Given the description of an element on the screen output the (x, y) to click on. 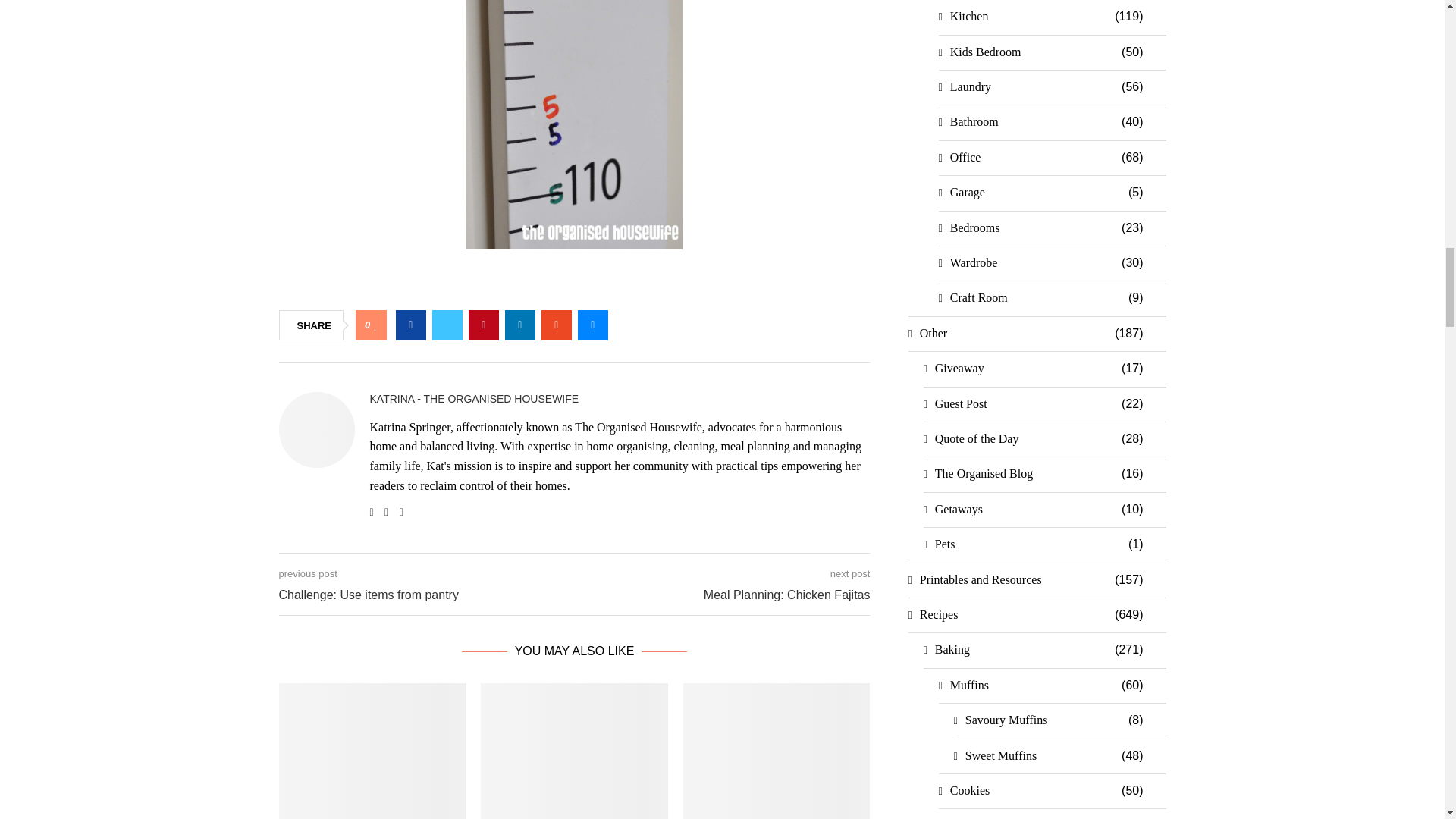
13 Creative Uses for Tin Cans (574, 751)
Author Katrina - The Organised Housewife (474, 399)
